Given the description of an element on the screen output the (x, y) to click on. 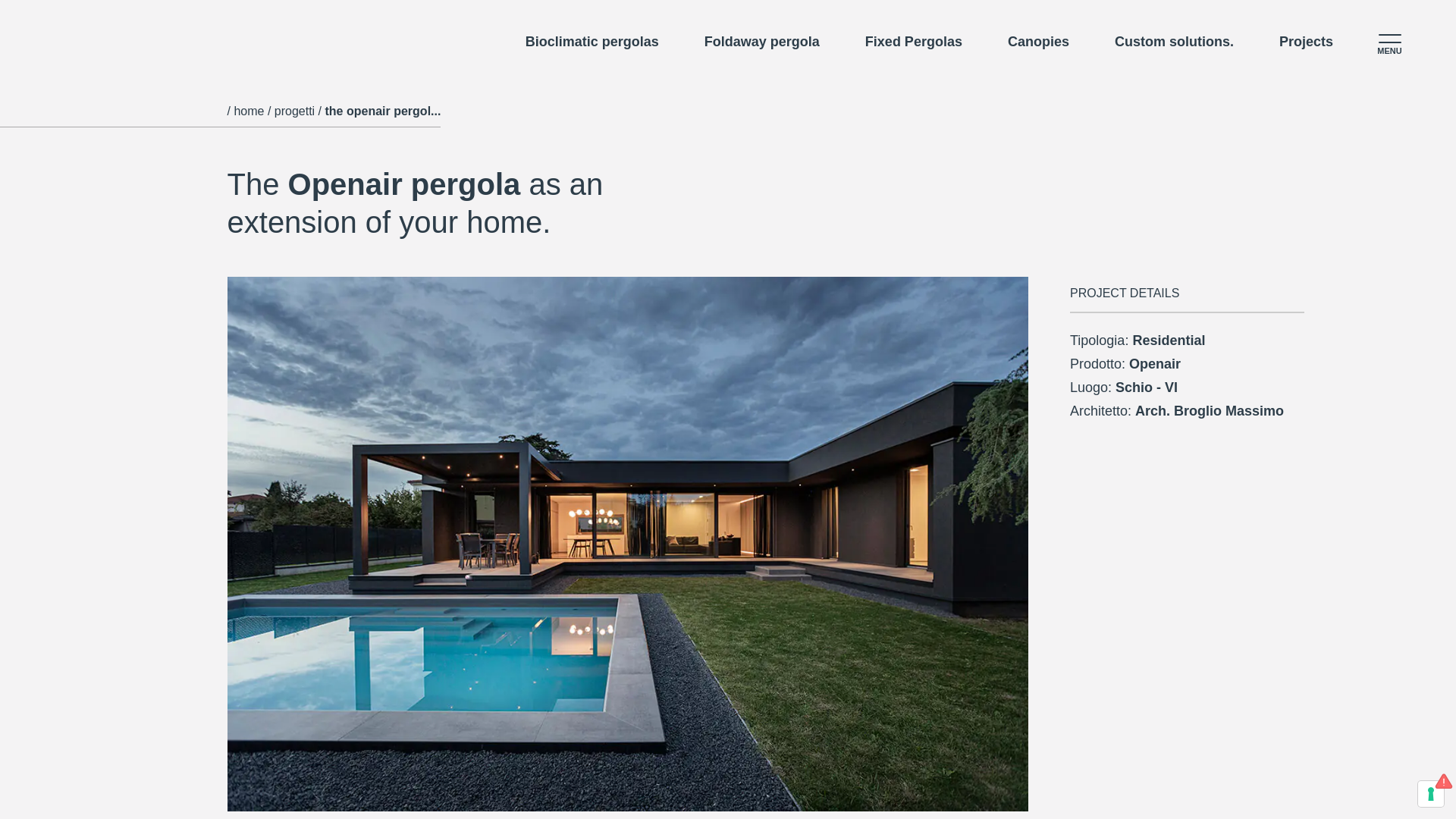
Projects (1306, 41)
Fixed Pergolas (913, 41)
Canopies (1037, 41)
Custom solutions. (1174, 41)
Foldaway pergola (761, 41)
Bioclimatic pergolas (592, 41)
